Given the description of an element on the screen output the (x, y) to click on. 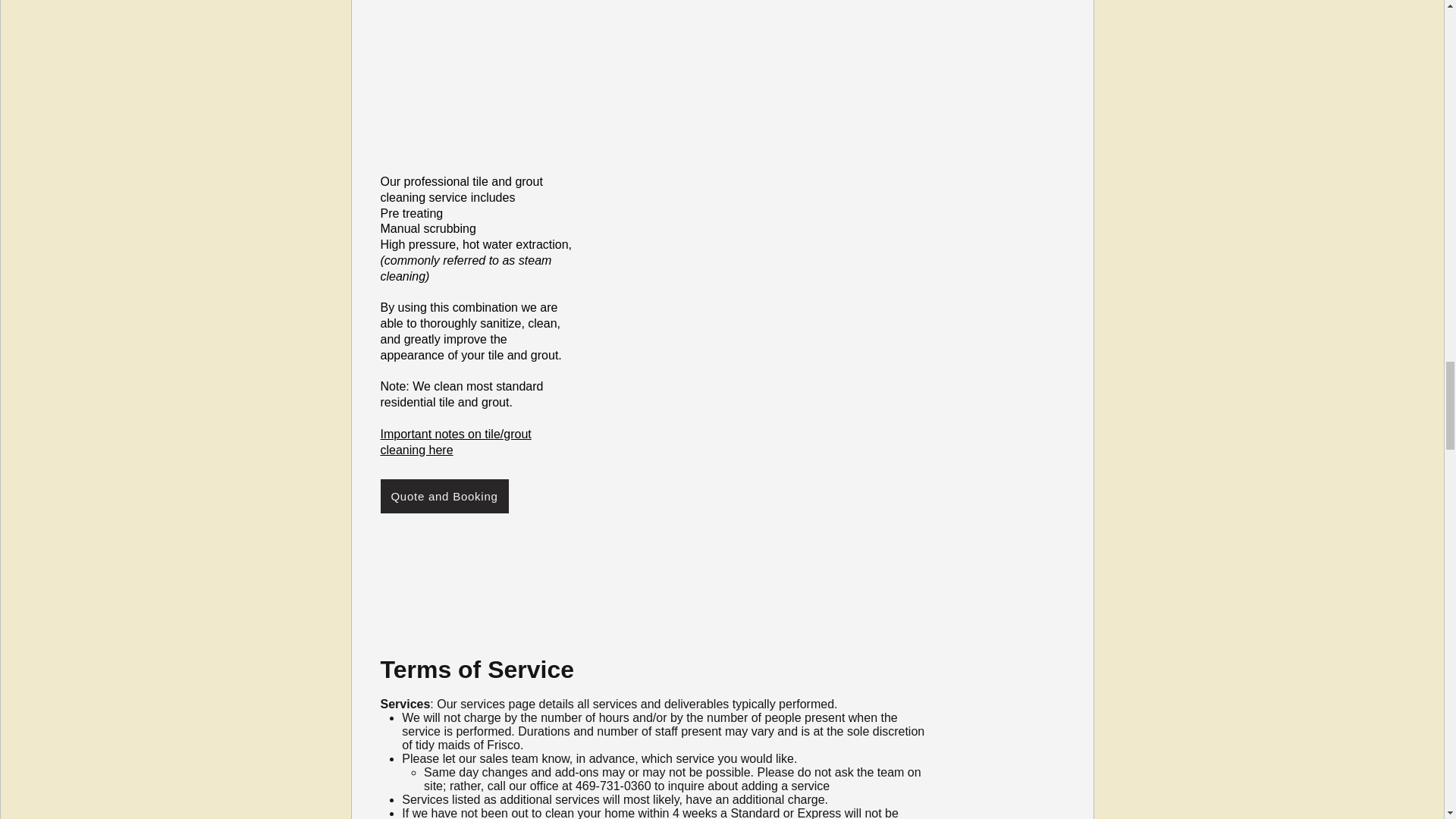
Quote and Booking (444, 496)
